Given the description of an element on the screen output the (x, y) to click on. 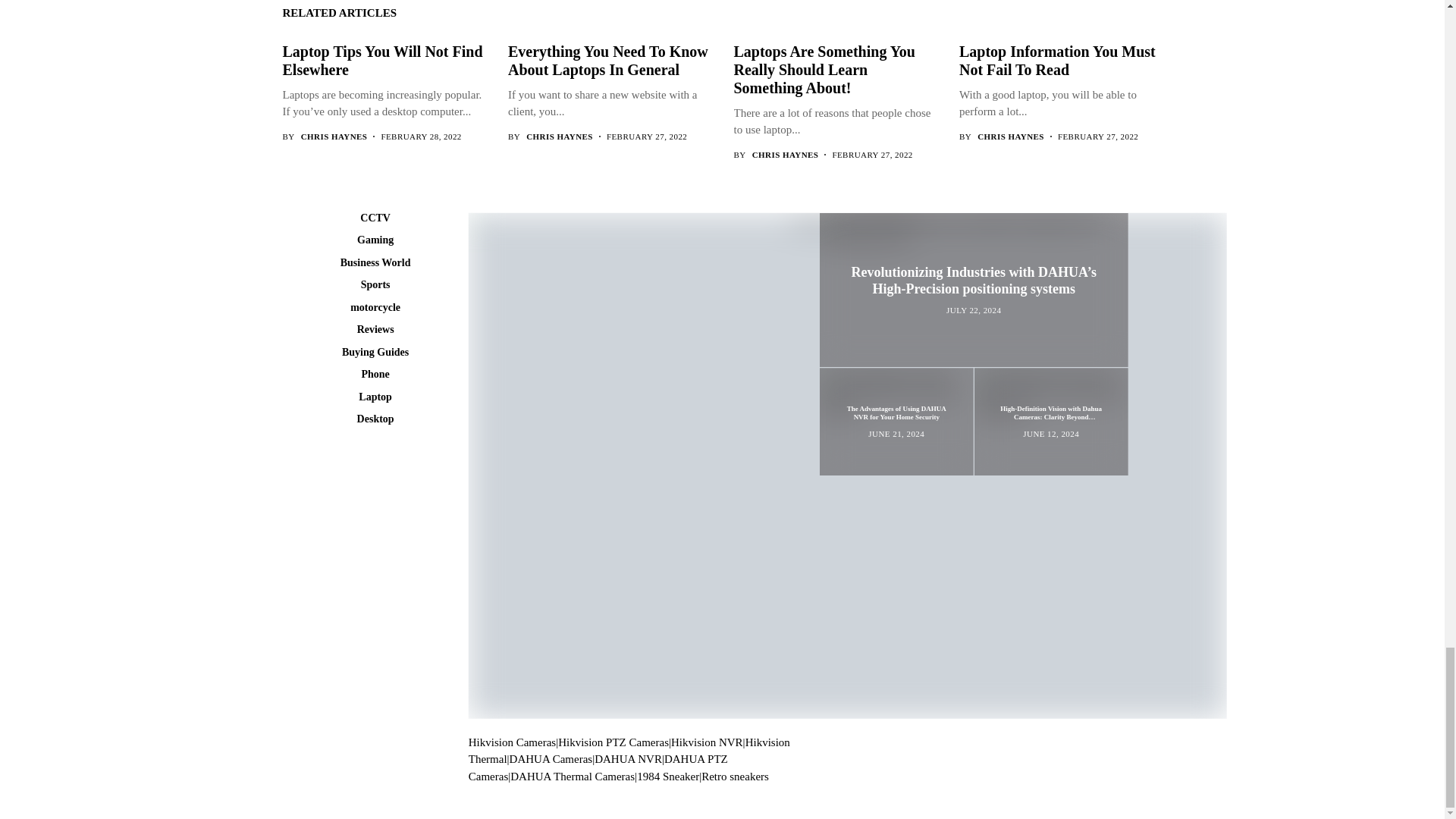
Posts by Chris Haynes (558, 136)
Posts by Chris Haynes (334, 136)
Posts by Chris Haynes (785, 154)
Posts by Chris Haynes (1009, 136)
